Given the description of an element on the screen output the (x, y) to click on. 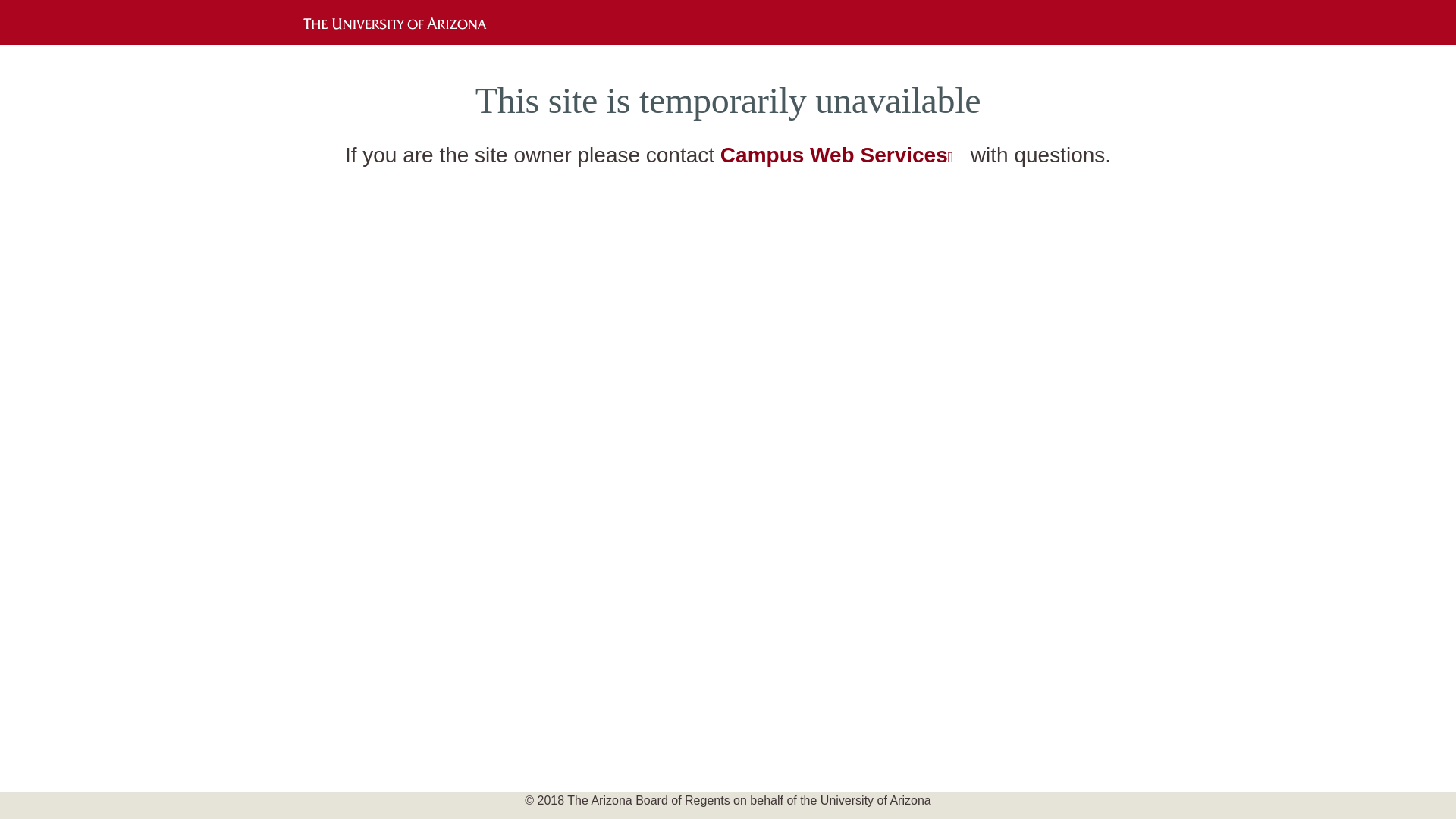
Campus Web Services (841, 155)
The University of Arizona homepage (400, 21)
